Given the description of an element on the screen output the (x, y) to click on. 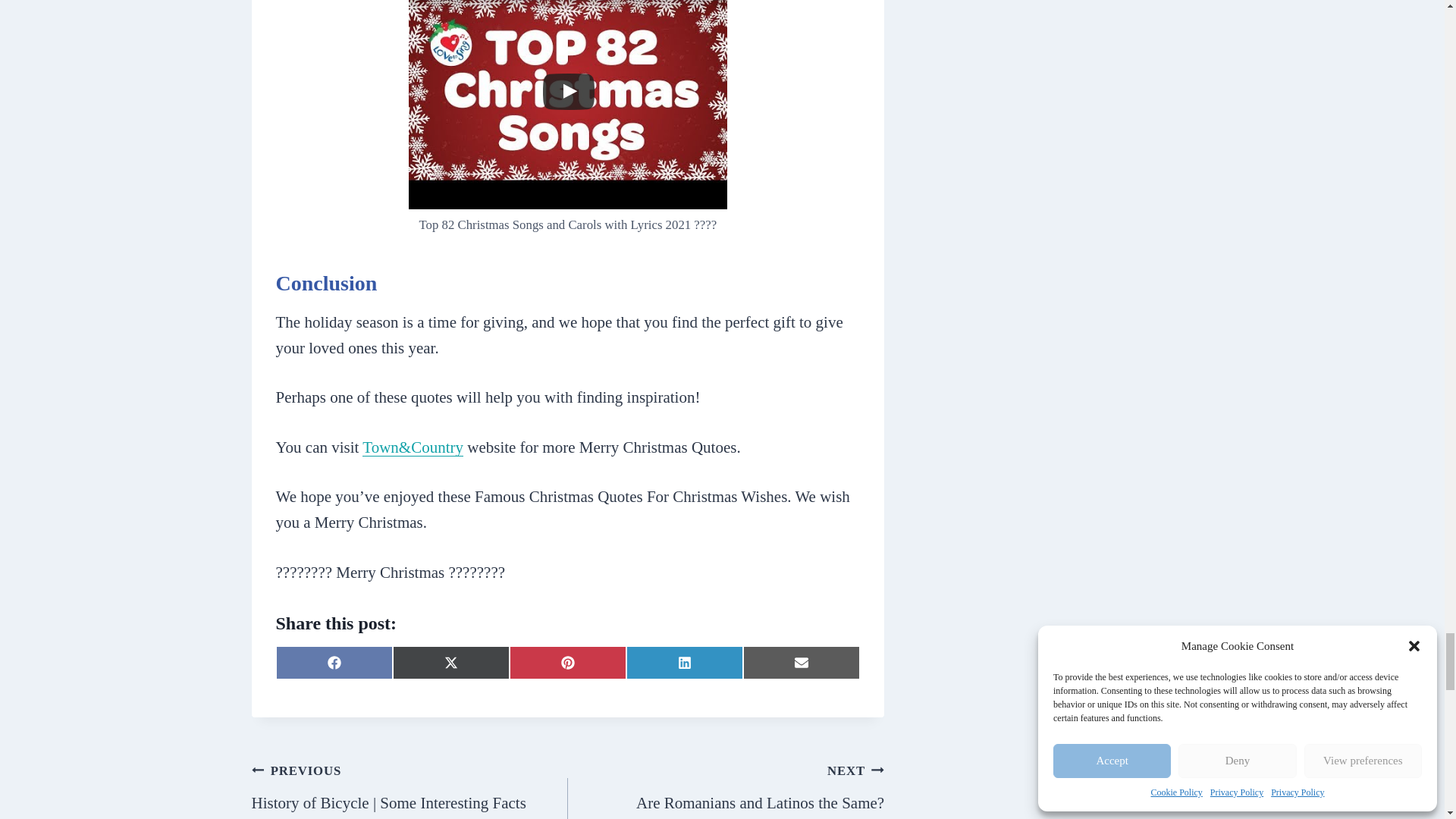
Share on Facebook (334, 662)
Share on LinkedIn (725, 788)
Share on Pinterest (684, 662)
Share on Email (567, 662)
